Given the description of an element on the screen output the (x, y) to click on. 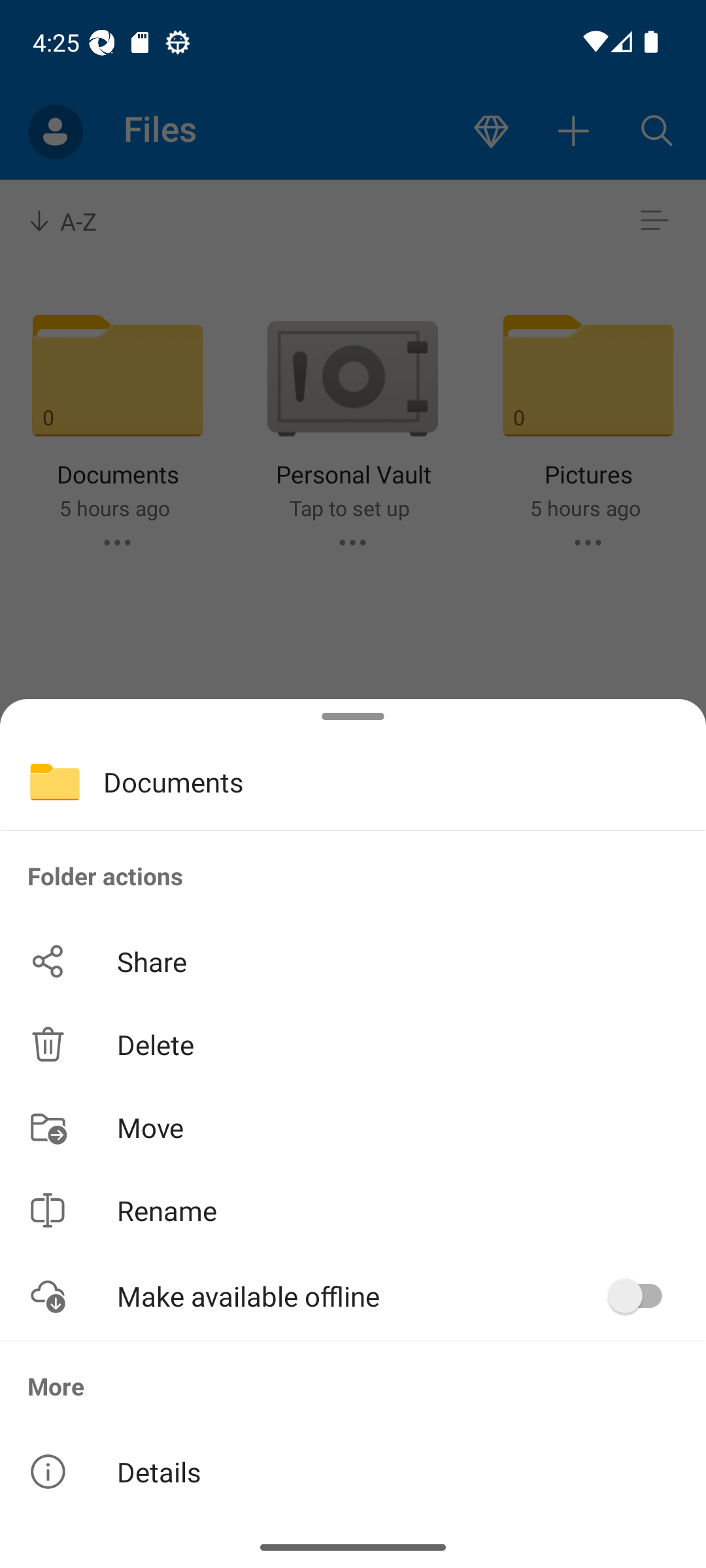
Share button Share (353, 961)
Delete button Delete (353, 1044)
Move button Move (353, 1126)
Rename button Rename (353, 1209)
Make offline operation (641, 1295)
Details button Details (353, 1471)
